Given the description of an element on the screen output the (x, y) to click on. 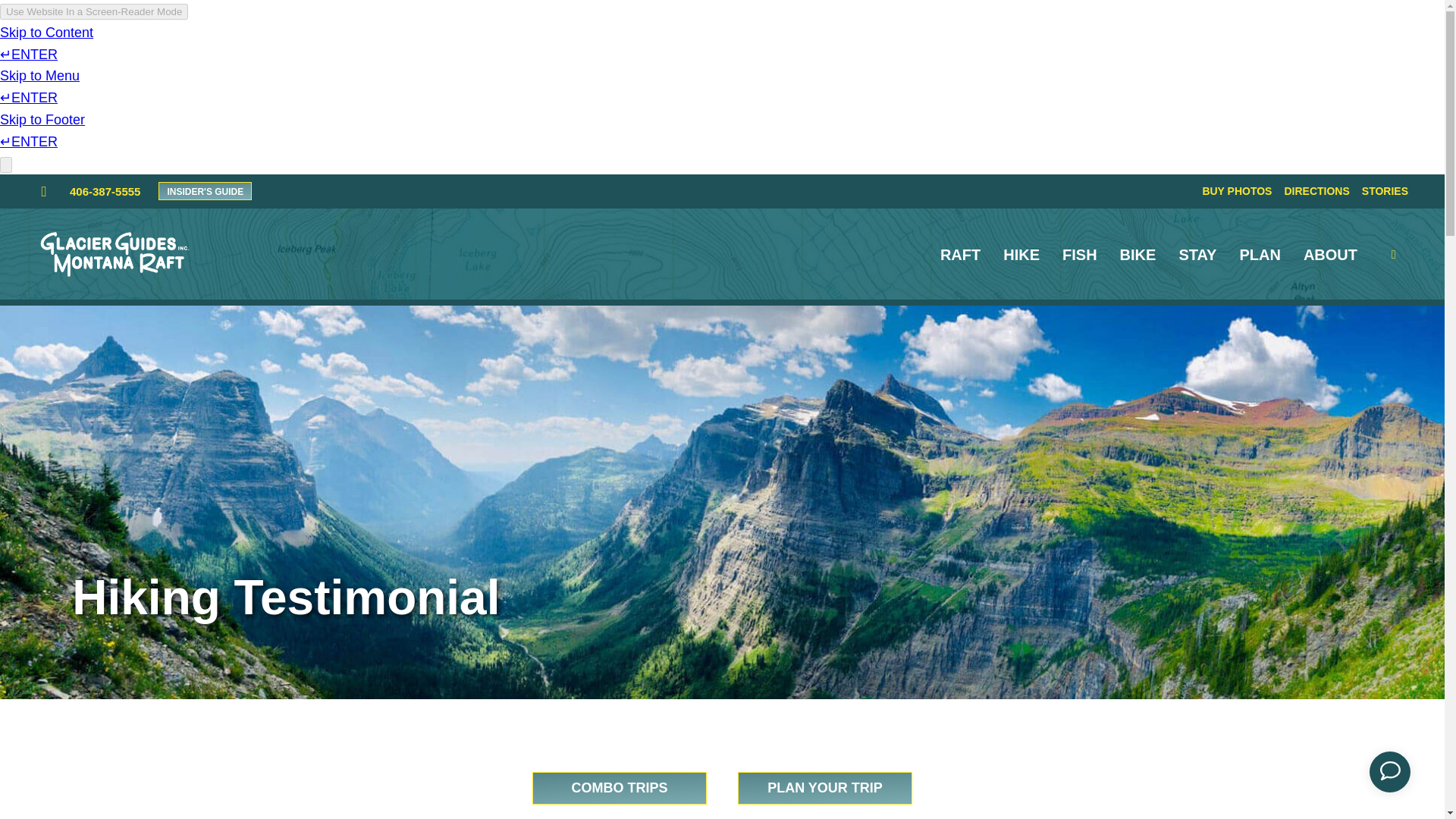
Chatbot (1395, 771)
Search Button (1402, 254)
